Given the description of an element on the screen output the (x, y) to click on. 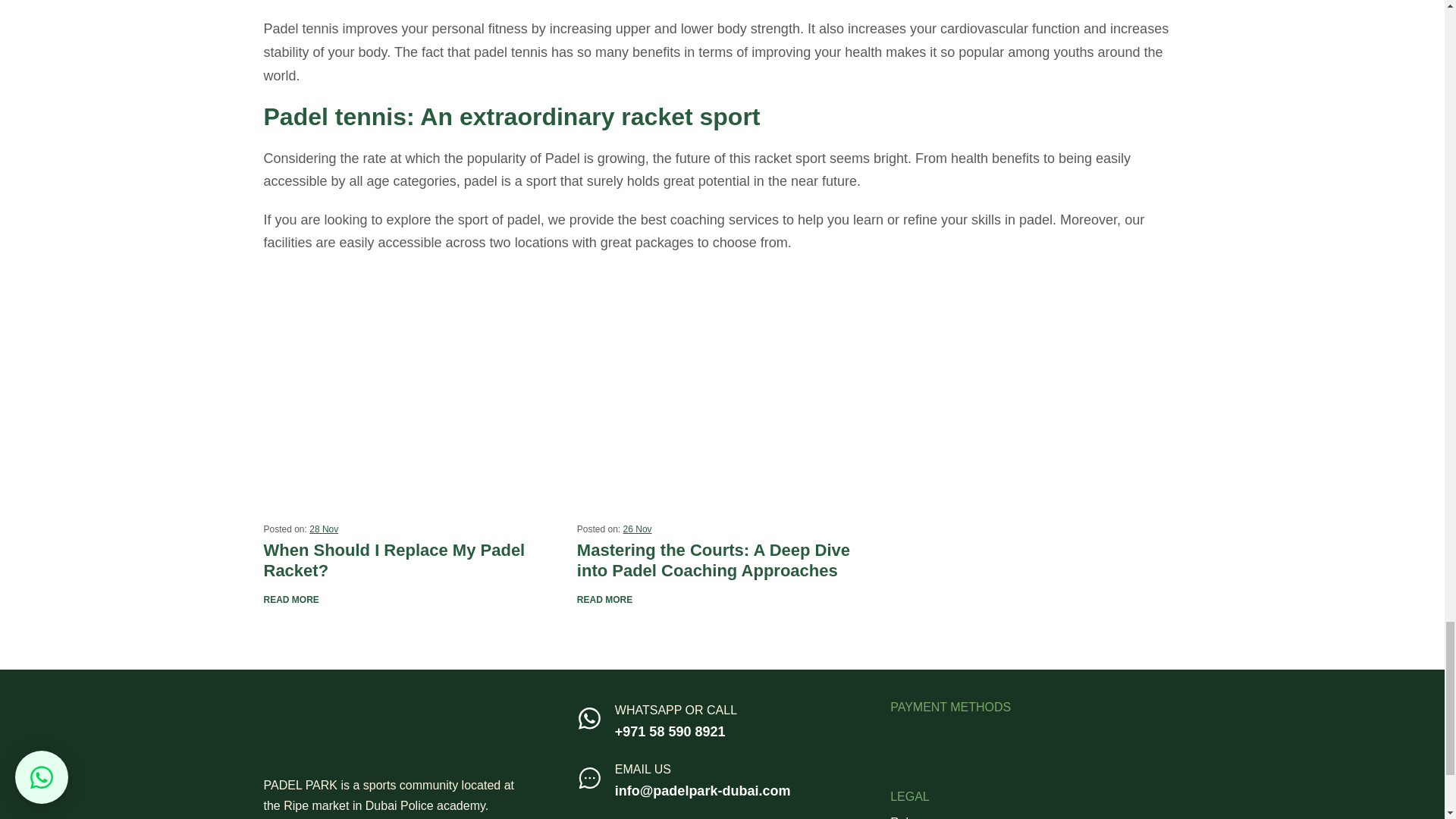
When Should I Replace My Padel Racket? (408, 404)
28 Nov (322, 529)
READ MORE (290, 599)
26 Nov (637, 529)
When Should I Replace My Padel Racket? (408, 560)
